Given the description of an element on the screen output the (x, y) to click on. 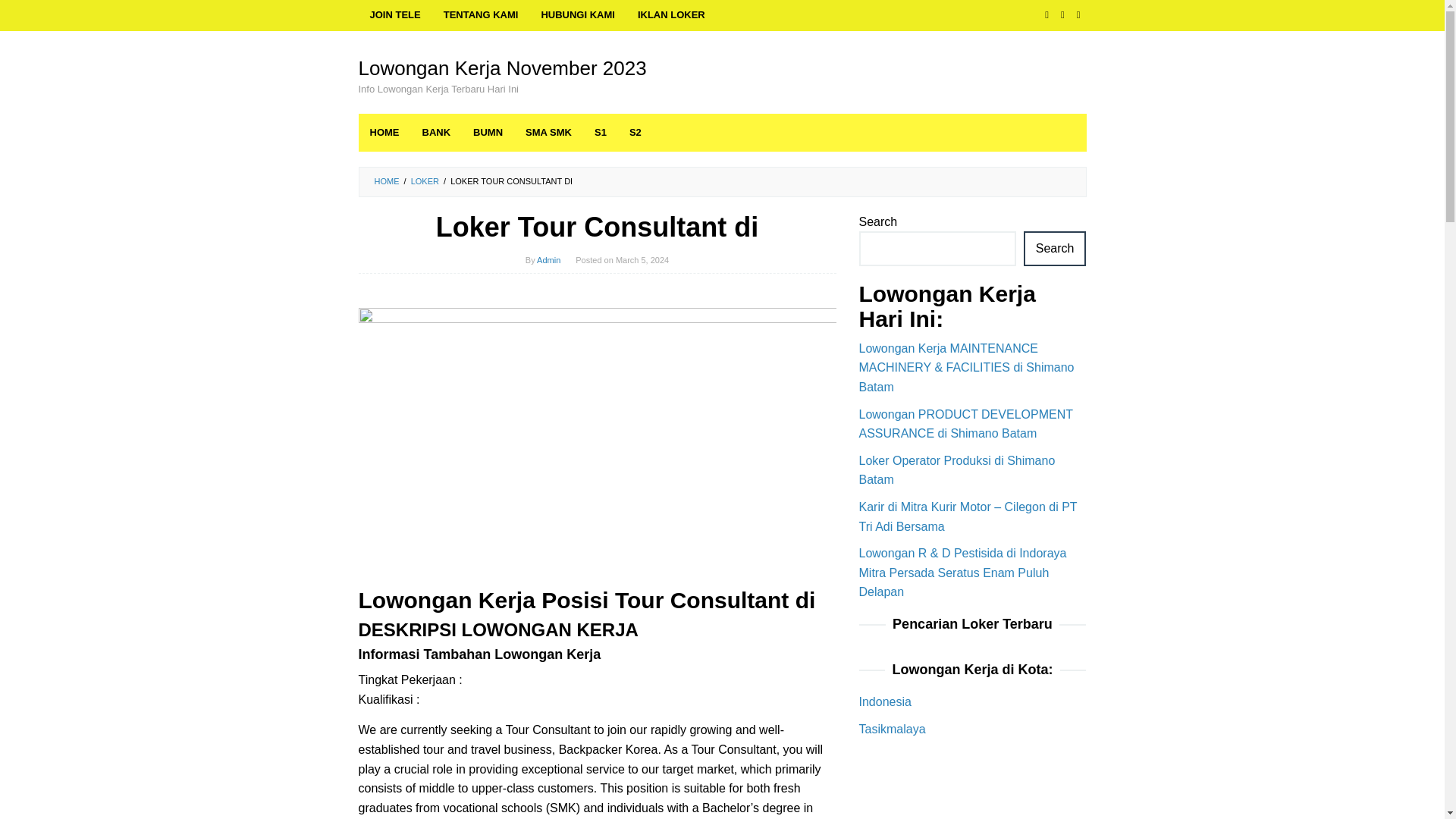
IKLAN LOKER (671, 15)
Lowongan Kerja November 2023 (502, 67)
BANK (436, 132)
JOIN TELE (394, 15)
Lowongan Kerja November 2023 (502, 67)
S1 (600, 132)
BUMN (487, 132)
Search (1054, 248)
HOME (386, 180)
Permalink to: Admin (548, 259)
HOME (384, 132)
HUBUNGI KAMI (577, 15)
Admin (548, 259)
SMA SMK (548, 132)
Lowongan PRODUCT DEVELOPMENT ASSURANCE di Shimano Batam (965, 423)
